Given the description of an element on the screen output the (x, y) to click on. 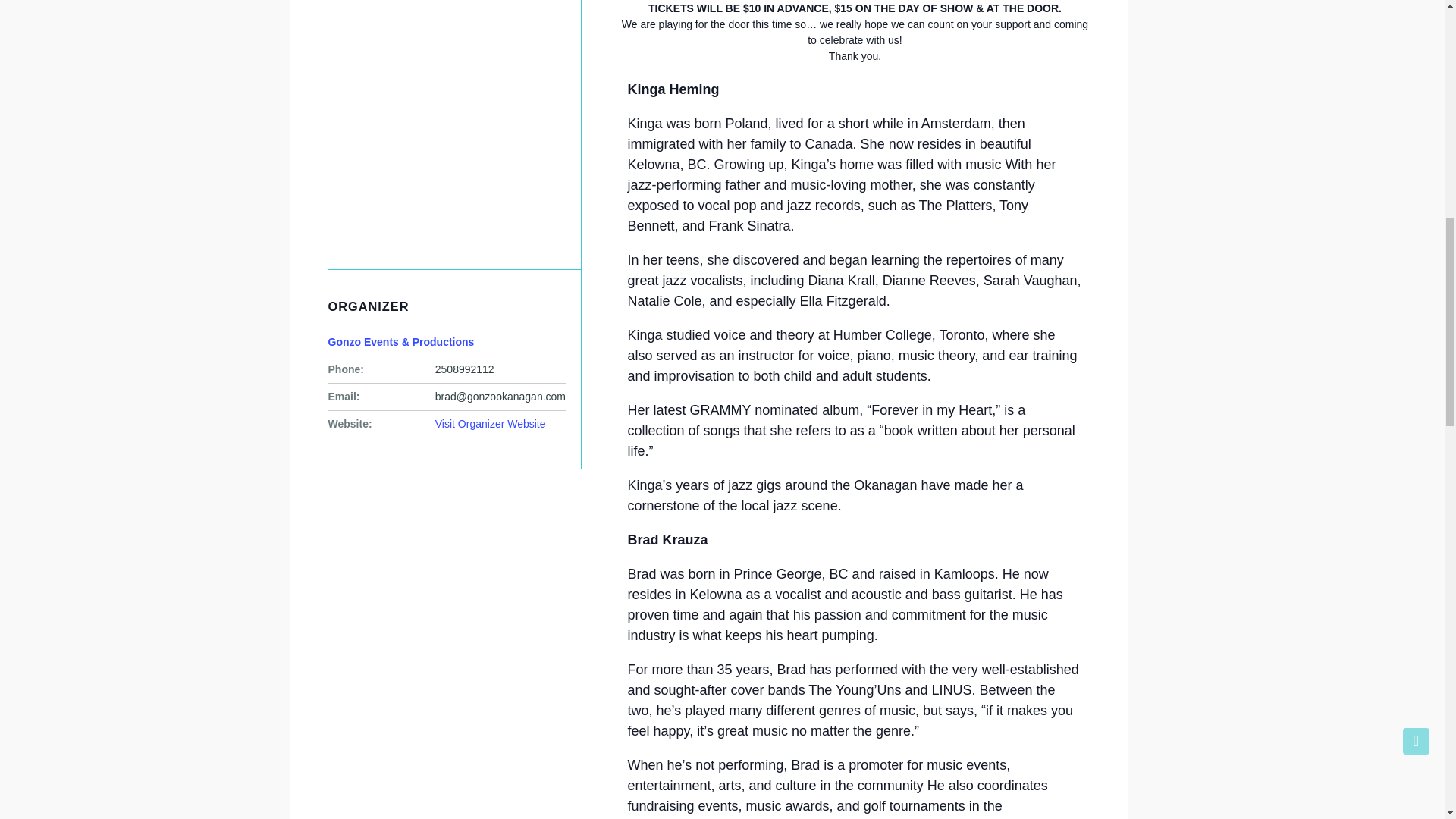
Visit Organizer Website (490, 423)
